Given the description of an element on the screen output the (x, y) to click on. 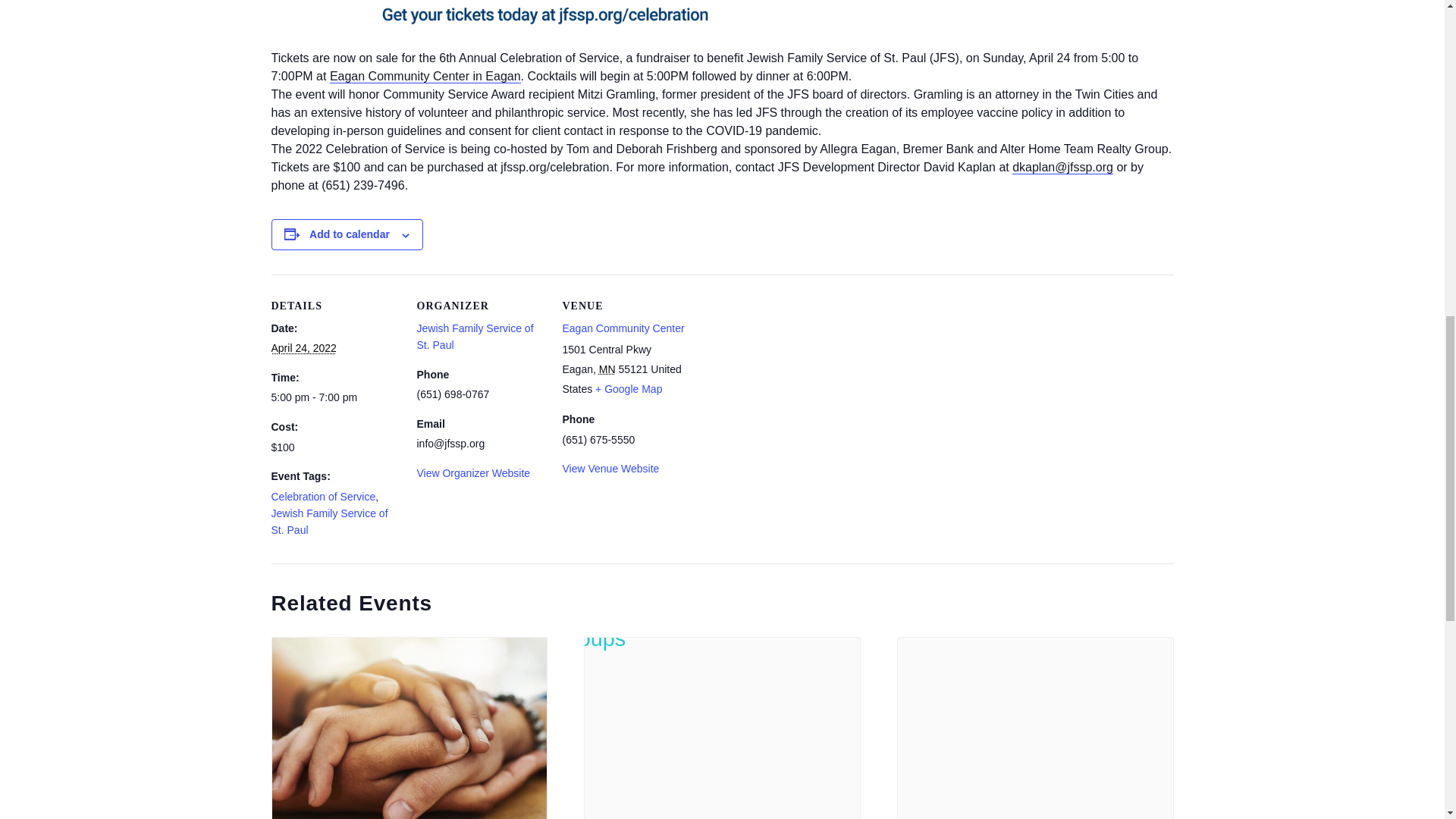
Celebration of Service (322, 496)
Jewish Family Service of St. Paul (329, 521)
Click to view a Google Map (628, 388)
Minnesota (606, 369)
Eagan Community Center (623, 328)
View Organizer Website (473, 472)
Eagan Community Center in Eagan (425, 76)
2022-04-24 (334, 397)
Add to calendar (349, 234)
2022-04-24 (303, 347)
Jewish Family Service of St. Paul (475, 336)
Jewish Family Service of St. Paul (475, 336)
